Given the description of an element on the screen output the (x, y) to click on. 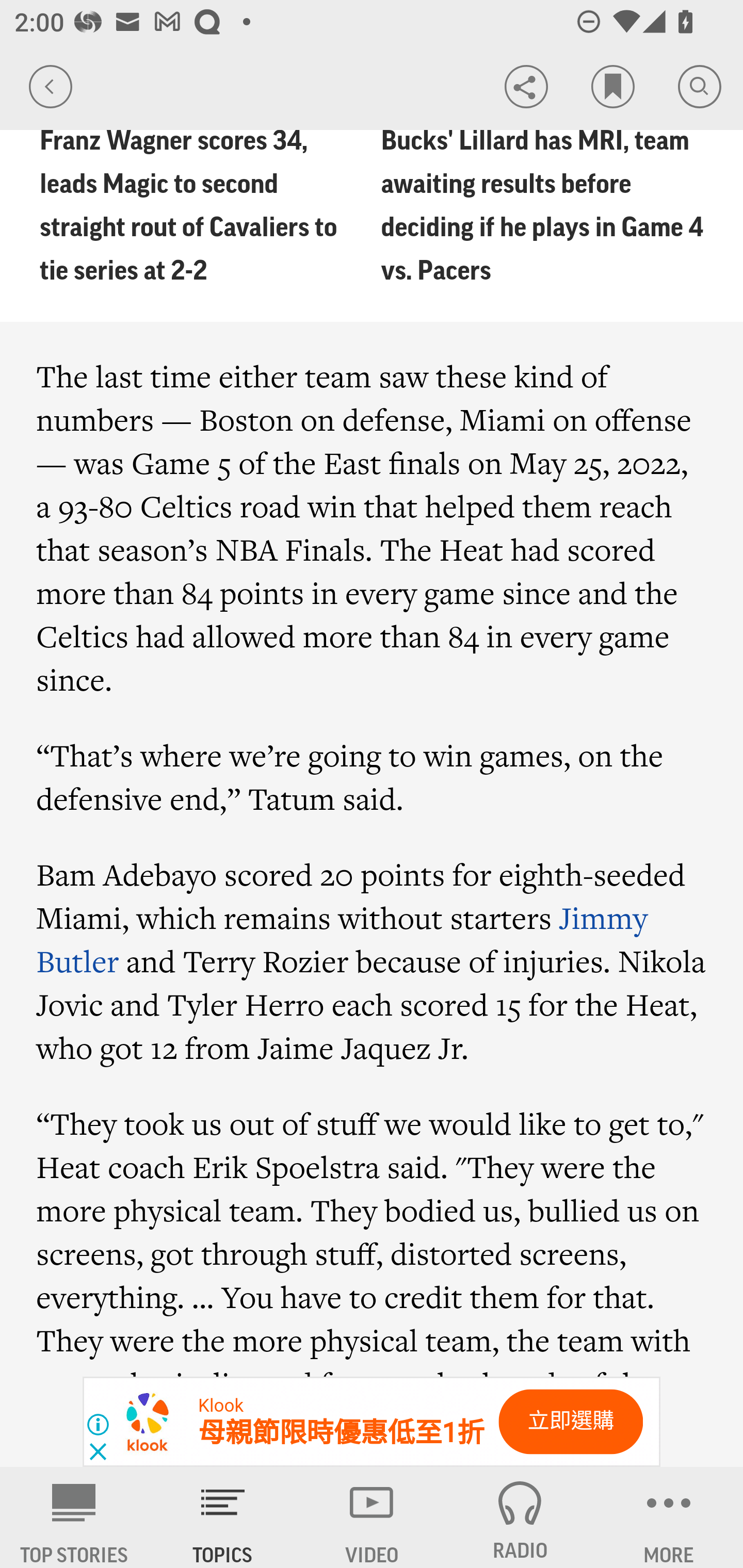
Jimmy Butler (341, 939)
立即選購 Klook 母親節限時優惠低至1折 立即選購 Klook 母親節限時優惠低至1折 (371, 1421)
AP News TOP STORIES (74, 1517)
TOPICS (222, 1517)
VIDEO (371, 1517)
RADIO (519, 1517)
MORE (668, 1517)
